Given the description of an element on the screen output the (x, y) to click on. 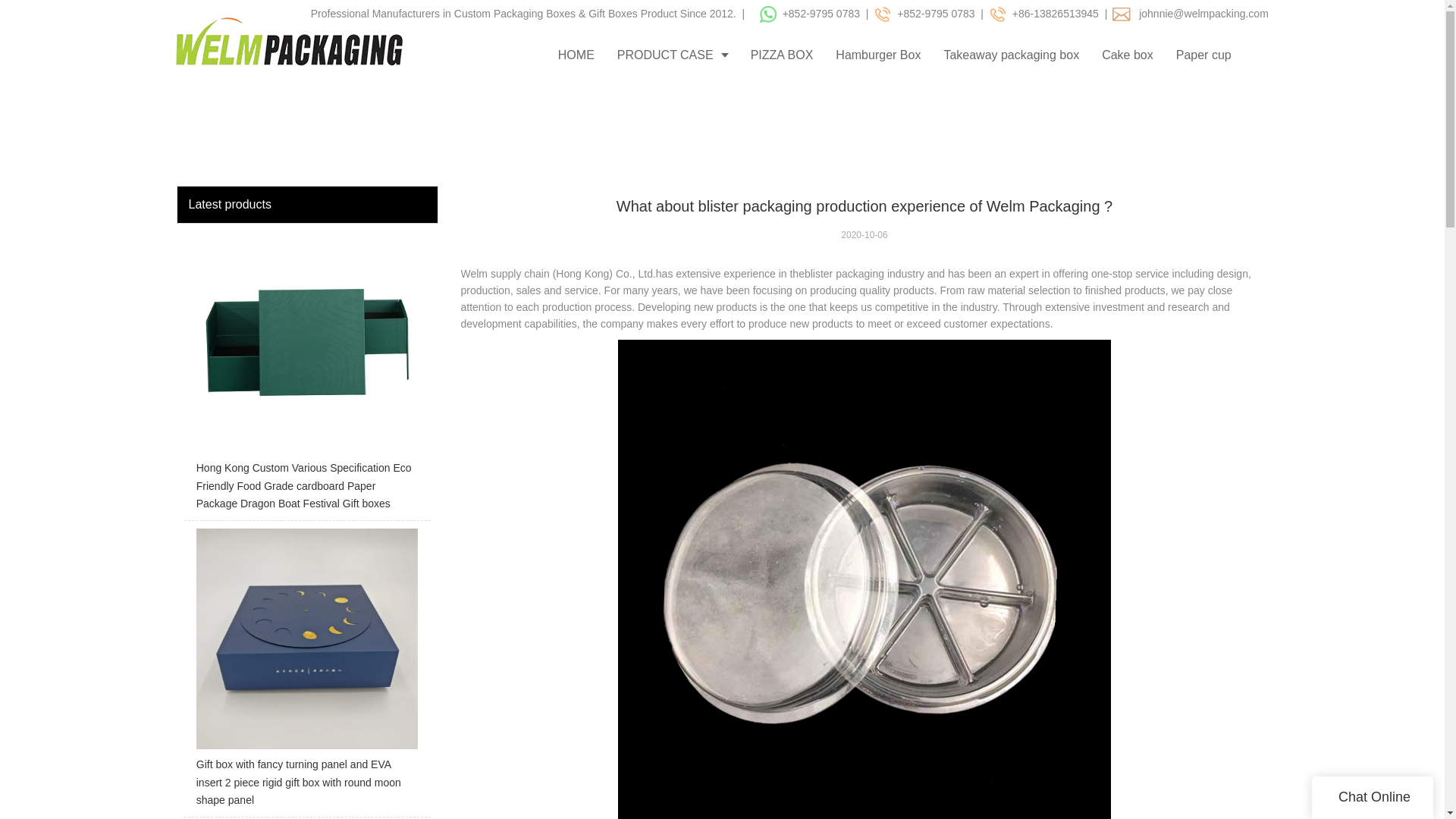
PRODUCT CASE (672, 55)
Paper cup (1203, 55)
Takeaway packaging box (1010, 55)
Hamburger Box (877, 55)
PIZZA BOX (782, 55)
Cake box (1127, 55)
HOME (576, 55)
